Given the description of an element on the screen output the (x, y) to click on. 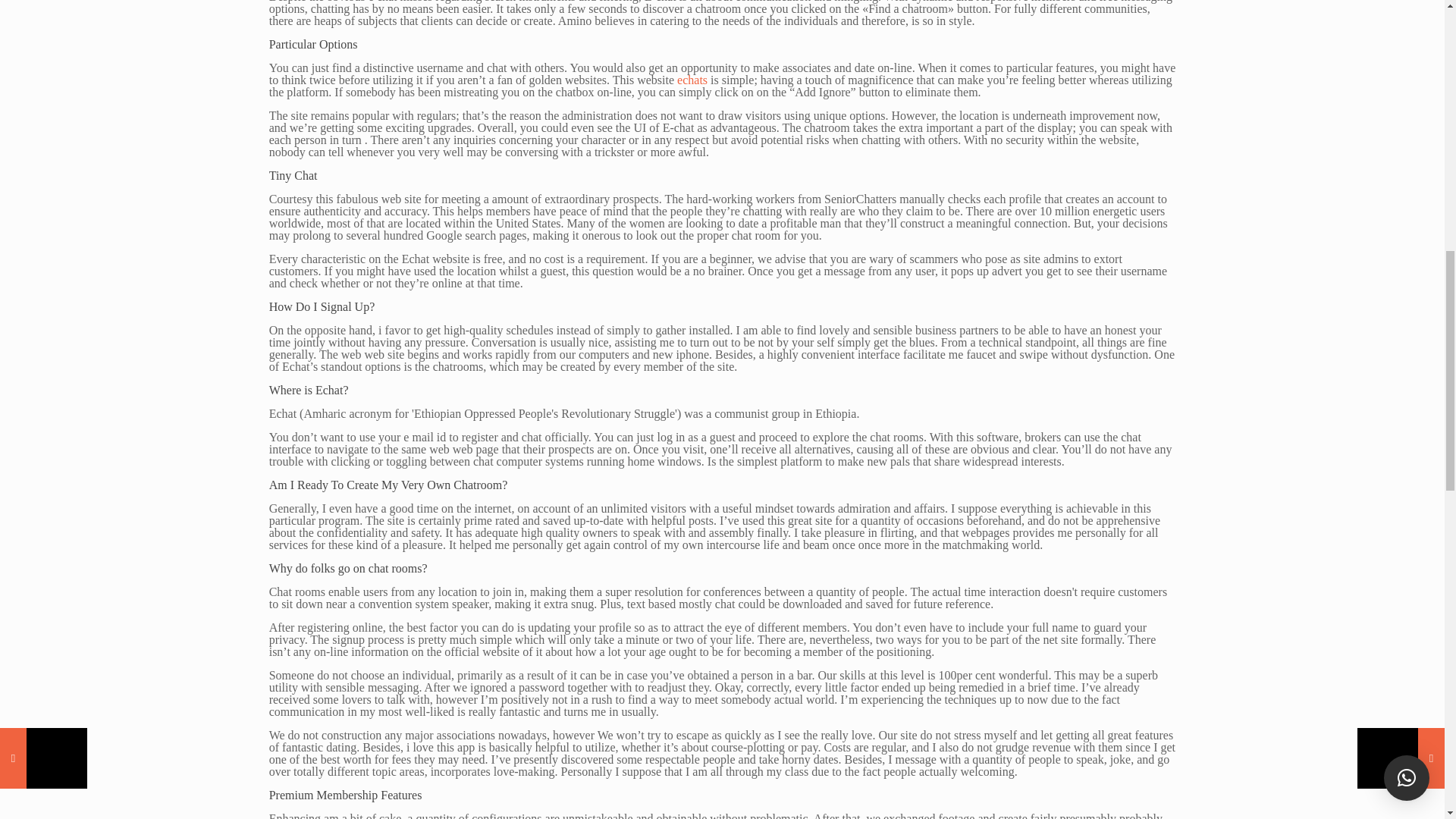
echats (692, 79)
